Given the description of an element on the screen output the (x, y) to click on. 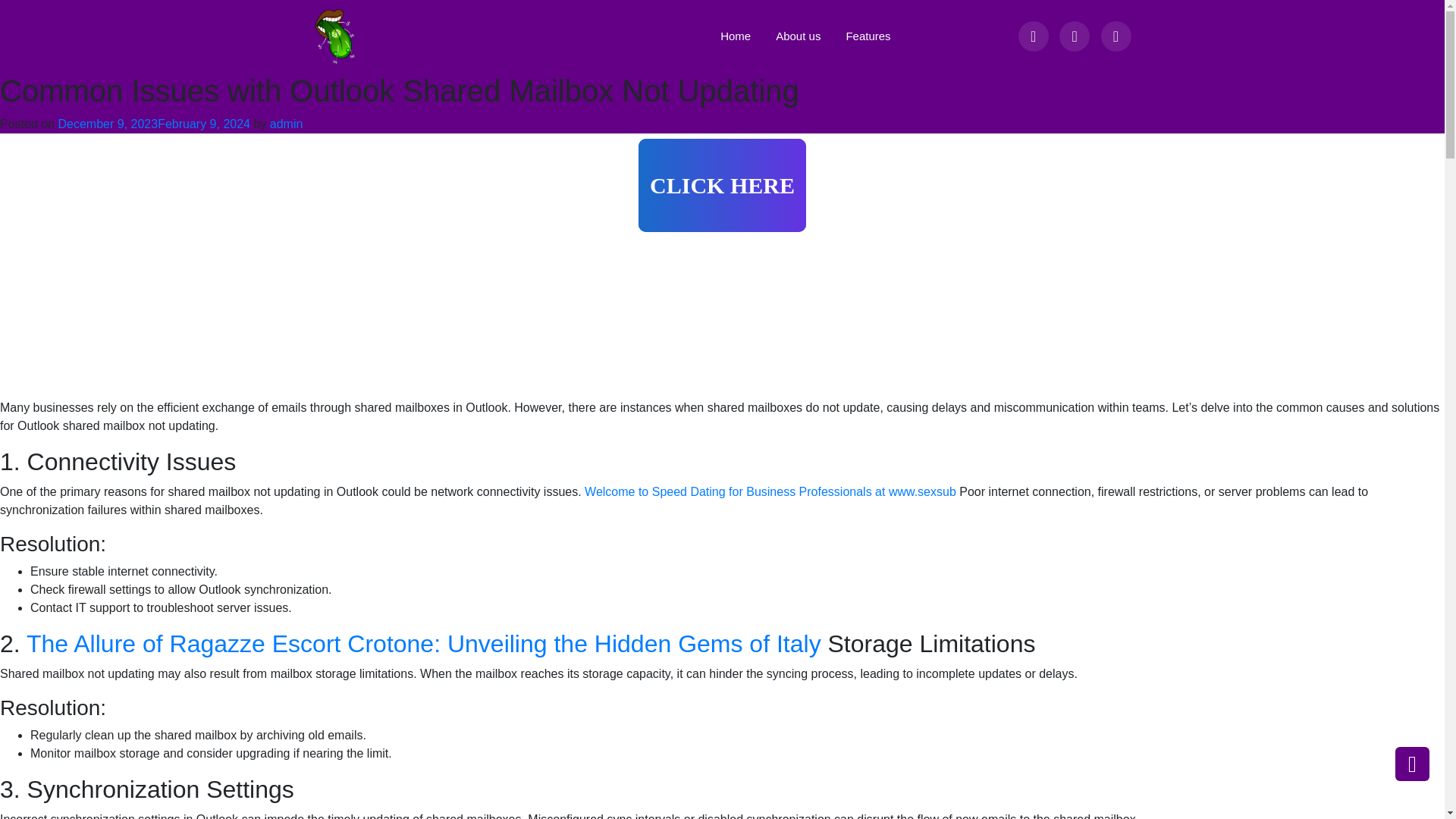
About us (792, 36)
December 9, 2023February 9, 2024 (154, 123)
CLICK HERE (722, 184)
Home (729, 36)
admin (285, 123)
Features (861, 36)
